Given the description of an element on the screen output the (x, y) to click on. 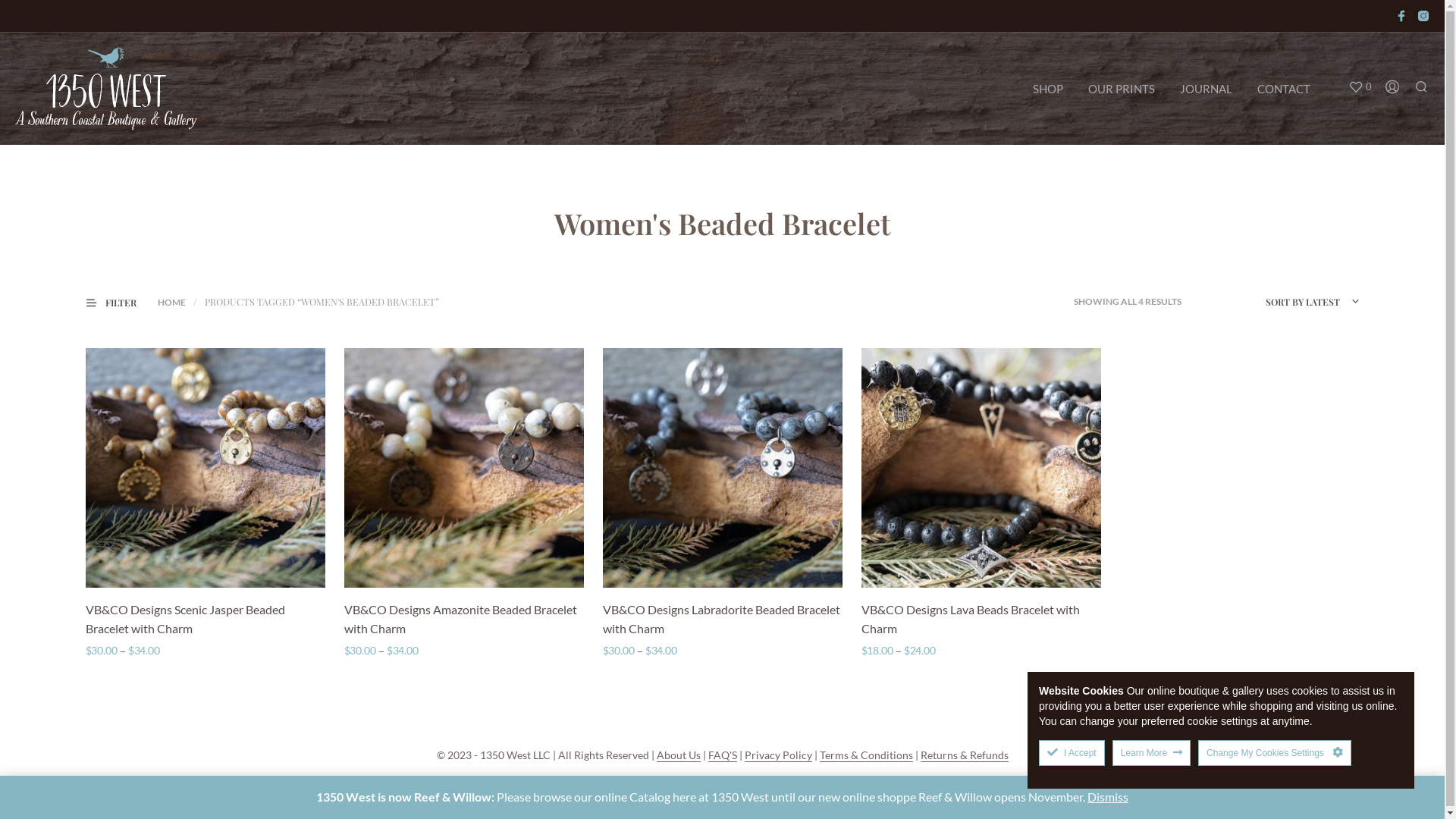
About Us Element type: text (678, 755)
JOURNAL Element type: text (1205, 88)
CONTACT Element type: text (1283, 88)
HOME Element type: text (171, 301)
Privacy Policy Element type: text (778, 755)
0 Element type: text (1359, 86)
VB&CO Designs Scenic Jasper Beaded Bracelet with Charm Element type: text (204, 619)
SHOP Element type: text (1047, 88)
OUR PRINTS Element type: text (1121, 88)
VB&CO Designs Lava Beads Bracelet with Charm Element type: text (981, 619)
VB&CO Designs Amazonite Beaded Bracelet with Charm Element type: text (463, 619)
Terms & Conditions Element type: text (865, 755)
Dismiss Element type: text (1107, 796)
FAQ'S Element type: text (722, 755)
Returns & Refunds Element type: text (964, 755)
VB&CO Designs Labradorite Beaded Bracelet with Charm Element type: text (721, 619)
